Given the description of an element on the screen output the (x, y) to click on. 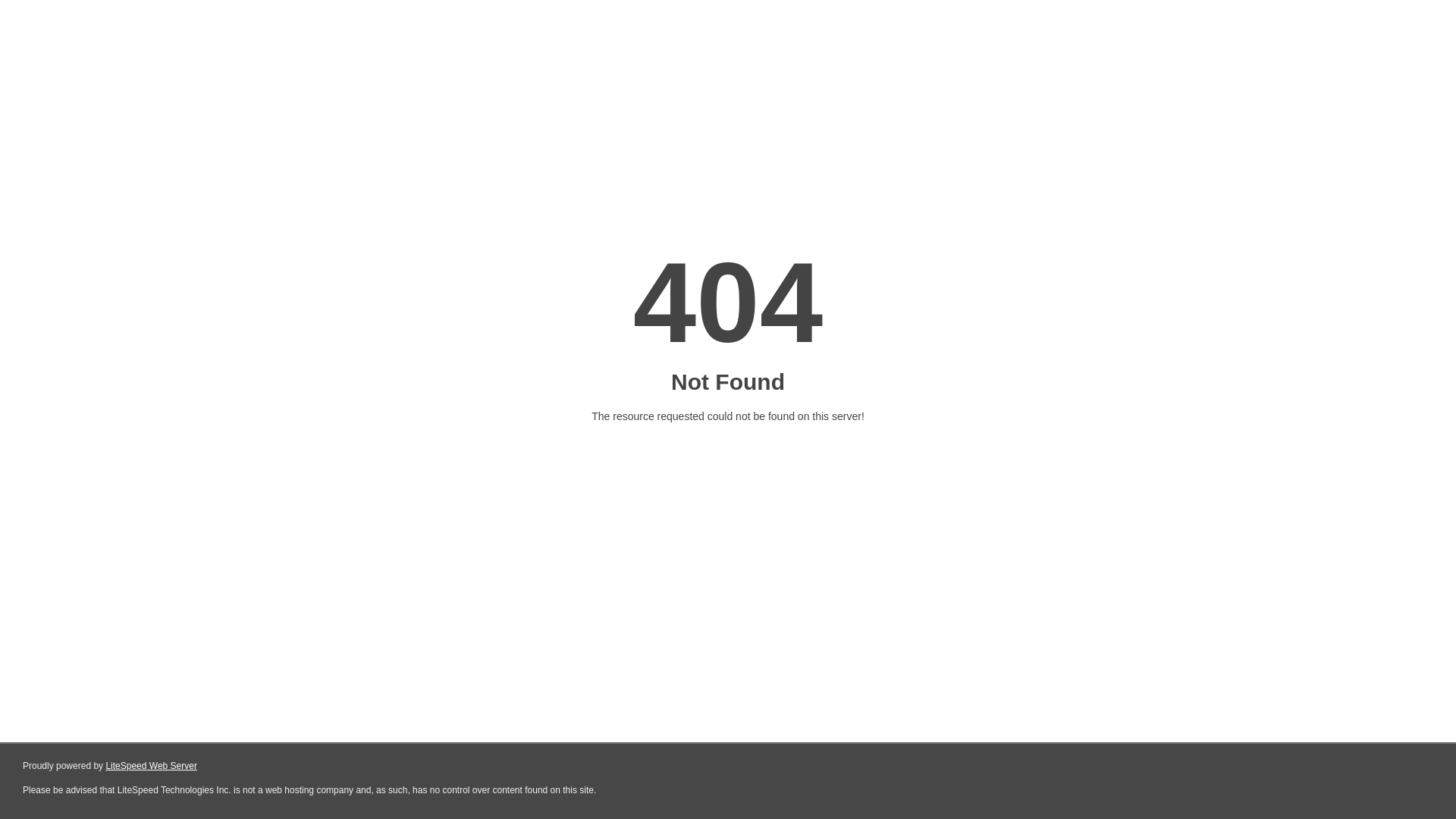
LiteSpeed Web Server Element type: text (151, 765)
